Given the description of an element on the screen output the (x, y) to click on. 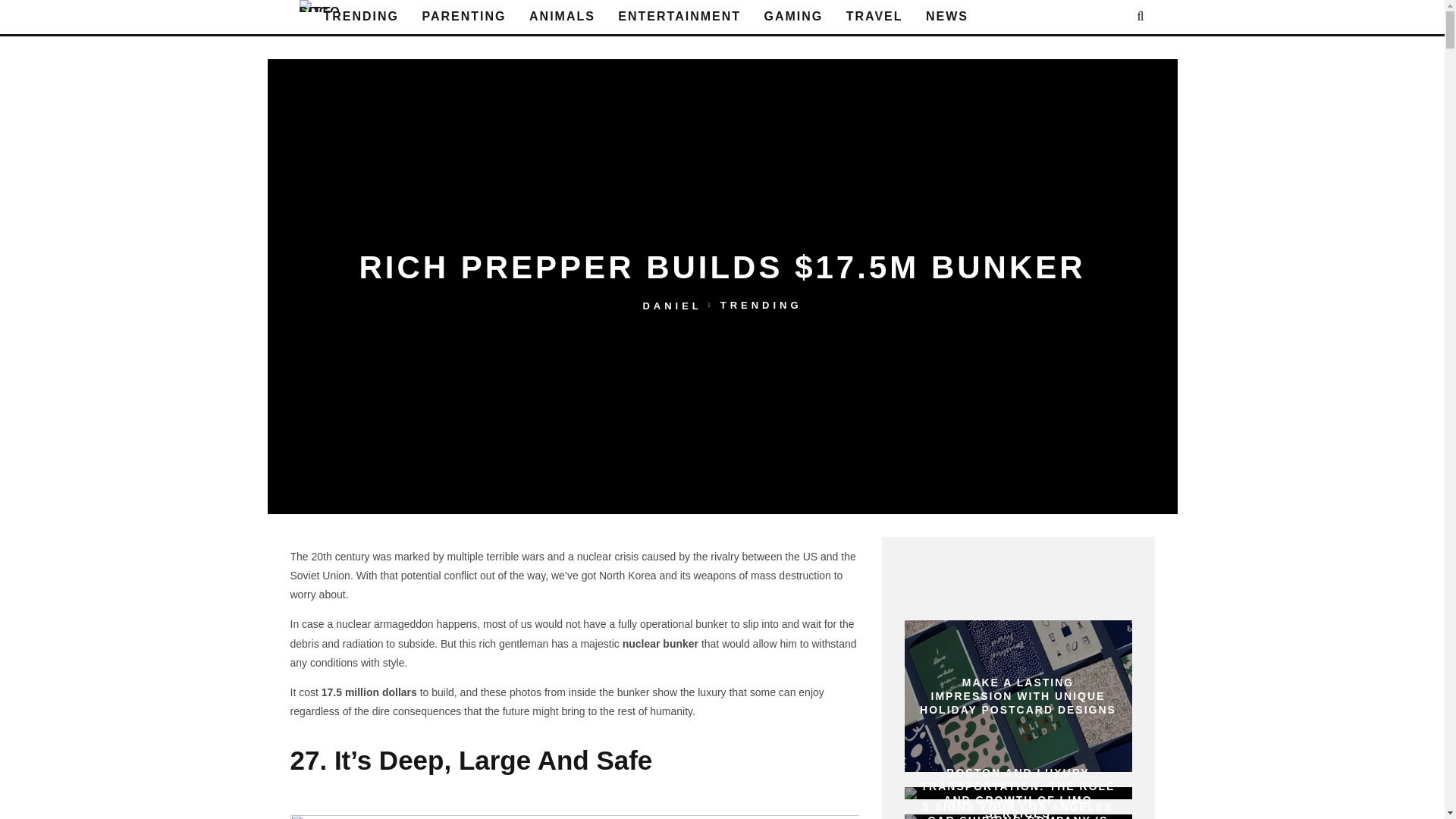
NEWS (946, 17)
5 Signs Your Los Angeles Car Shipping Company Is Trustworthy (1017, 816)
TRENDING (360, 17)
TRENDING (761, 305)
Log In (721, 409)
View all posts in Trending (761, 305)
ANIMALS (561, 17)
